Given the description of an element on the screen output the (x, y) to click on. 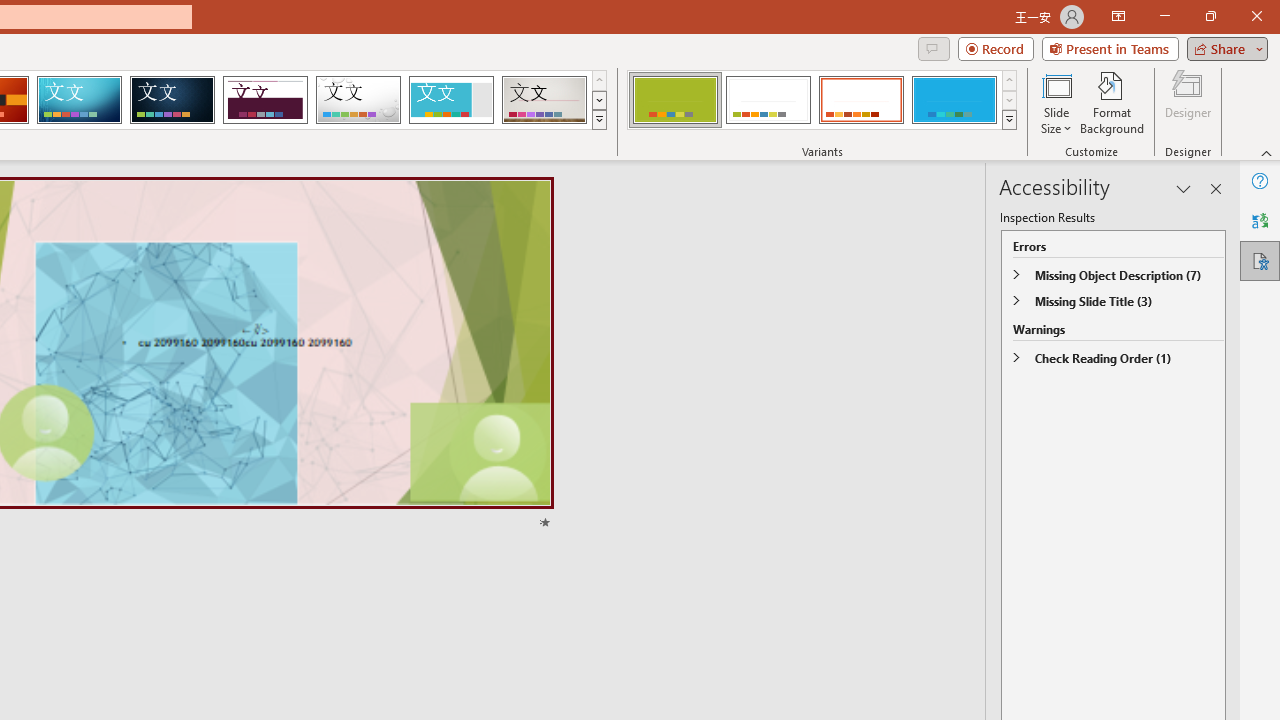
Droplet (358, 100)
Variants (1009, 120)
Basis Variant 3 (861, 100)
Basis Variant 4 (953, 100)
Slide Size (1056, 102)
Gallery (544, 100)
